Given the description of an element on the screen output the (x, y) to click on. 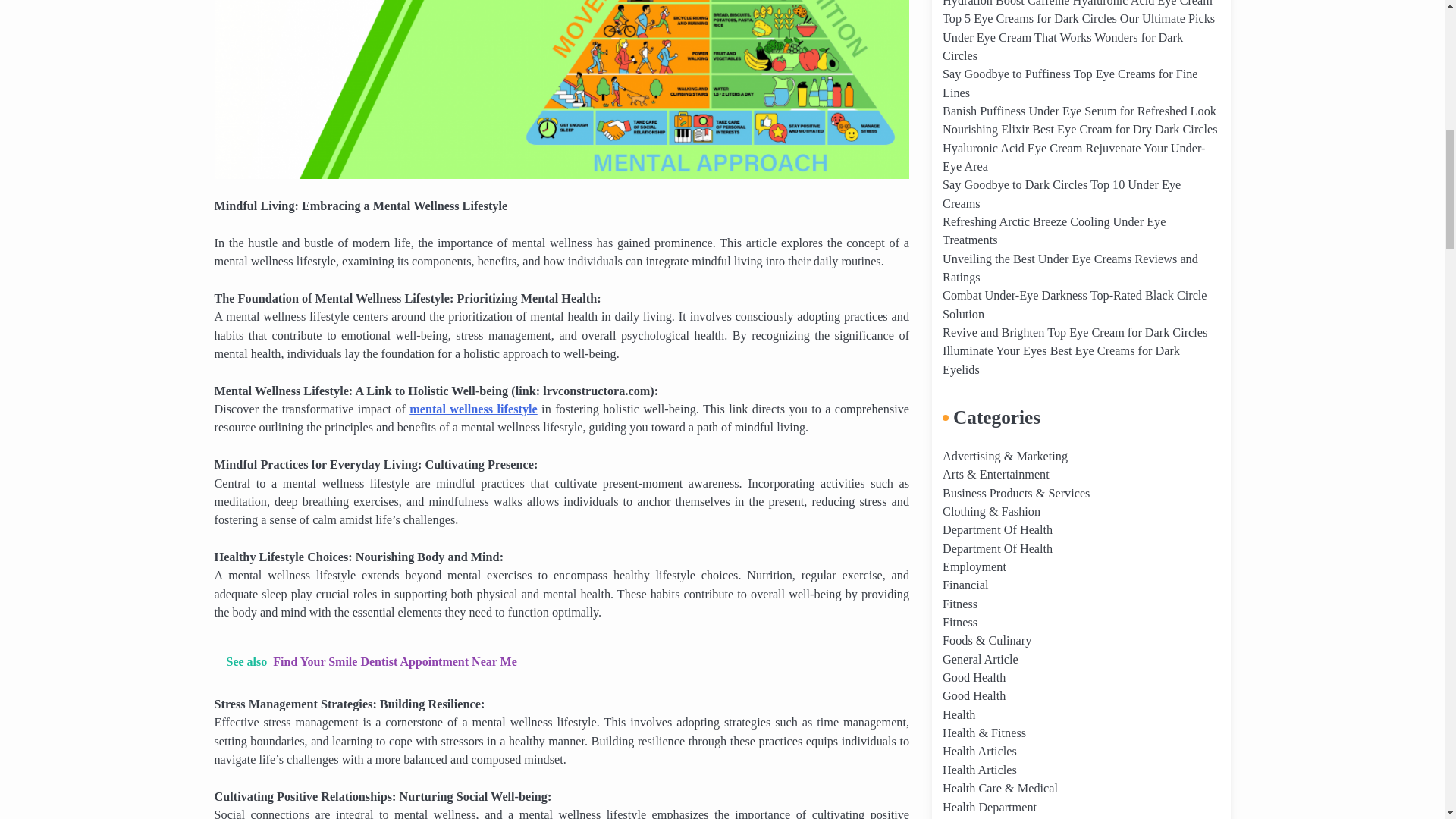
See also  Find Your Smile Dentist Appointment Near Me (561, 661)
mental wellness lifestyle (473, 409)
